Given the description of an element on the screen output the (x, y) to click on. 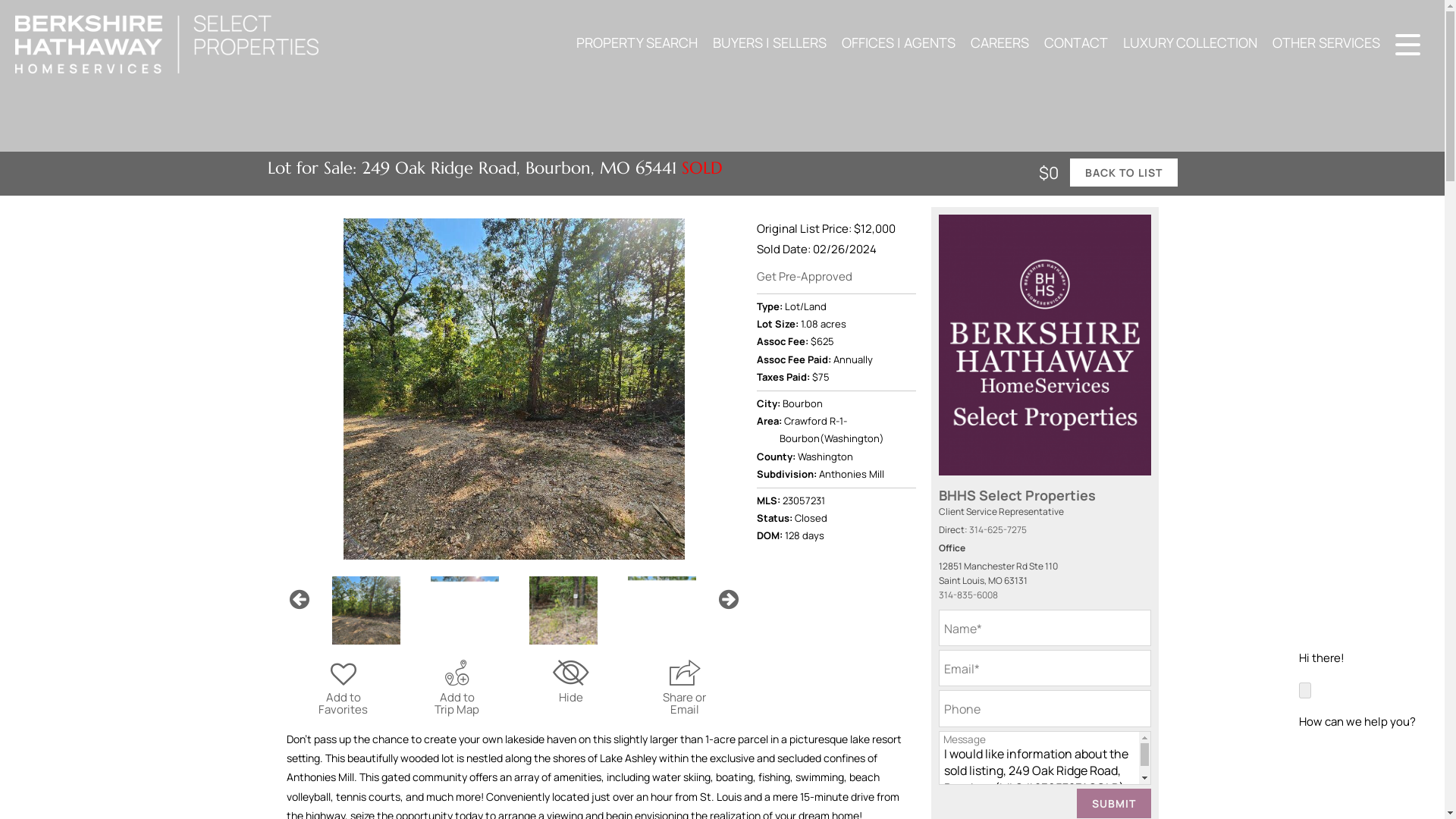
CAREERS (999, 42)
CONTACT (1075, 42)
249 Oak Ridge Road Bourbon MO 65441 (513, 388)
PROPERTY SEARCH (636, 42)
LUXURY COLLECTION (1190, 42)
BACK TO LIST (1122, 172)
OTHER SERVICES (1326, 42)
